Given the description of an element on the screen output the (x, y) to click on. 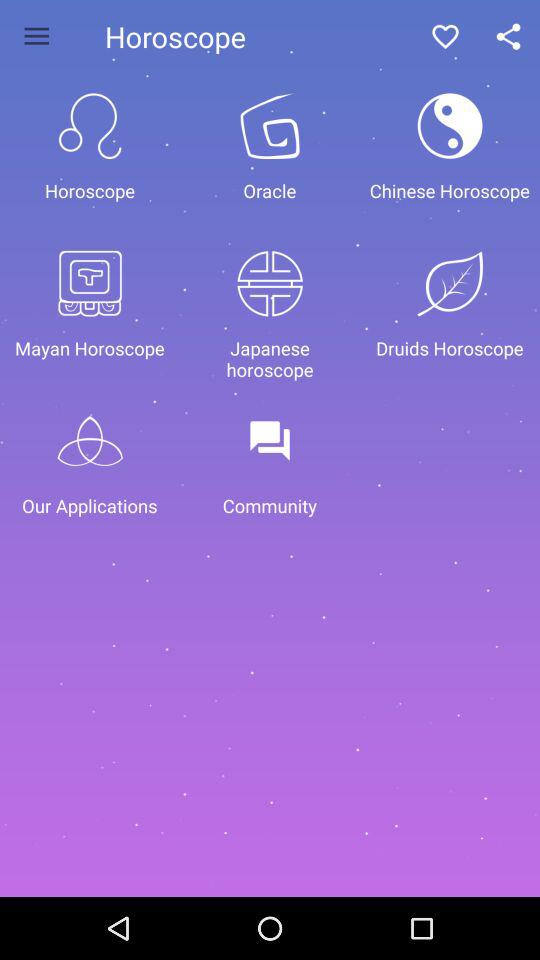
click on the heart symbol (445, 36)
